Given the description of an element on the screen output the (x, y) to click on. 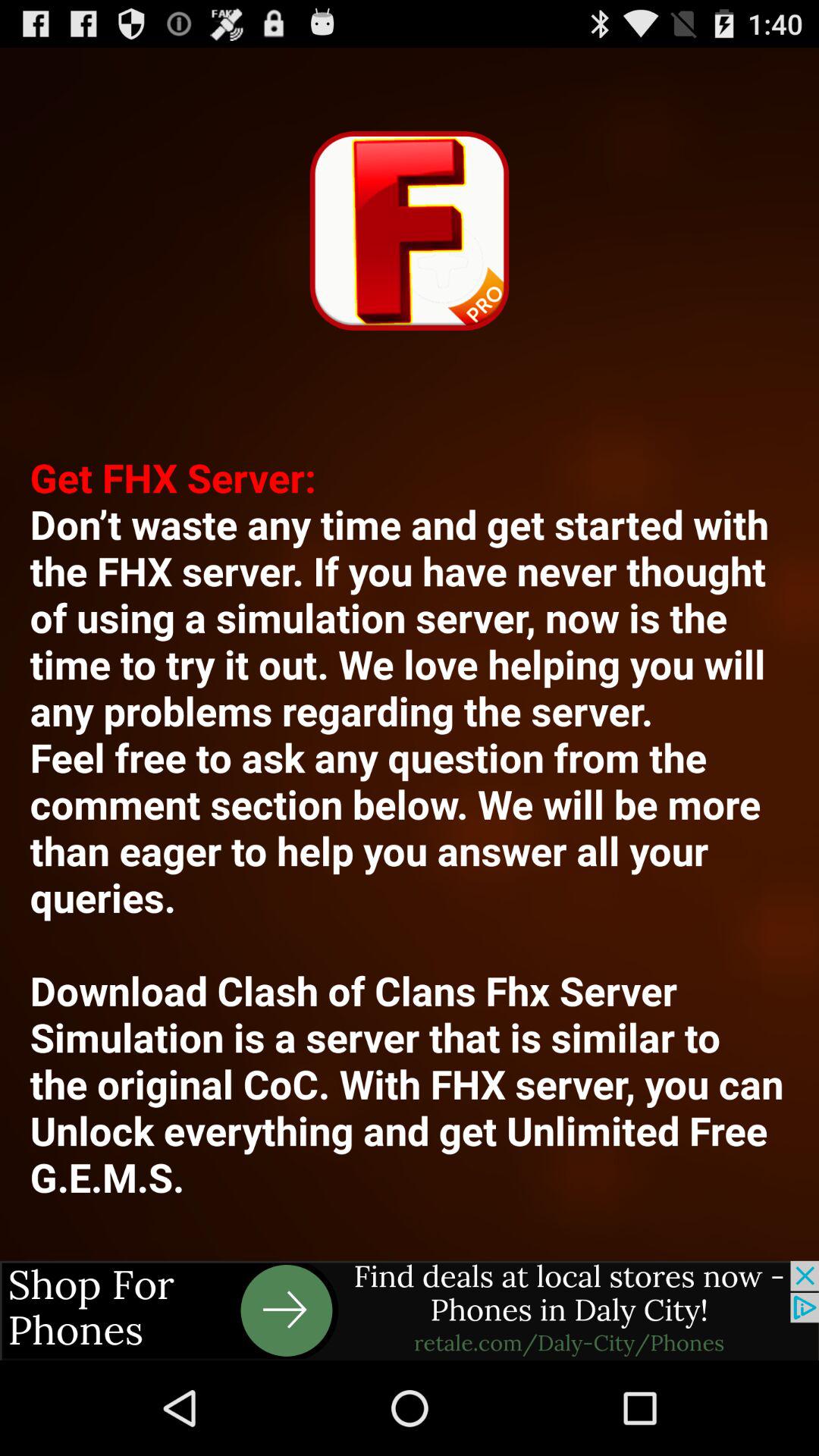
advertisement option (409, 1310)
